Given the description of an element on the screen output the (x, y) to click on. 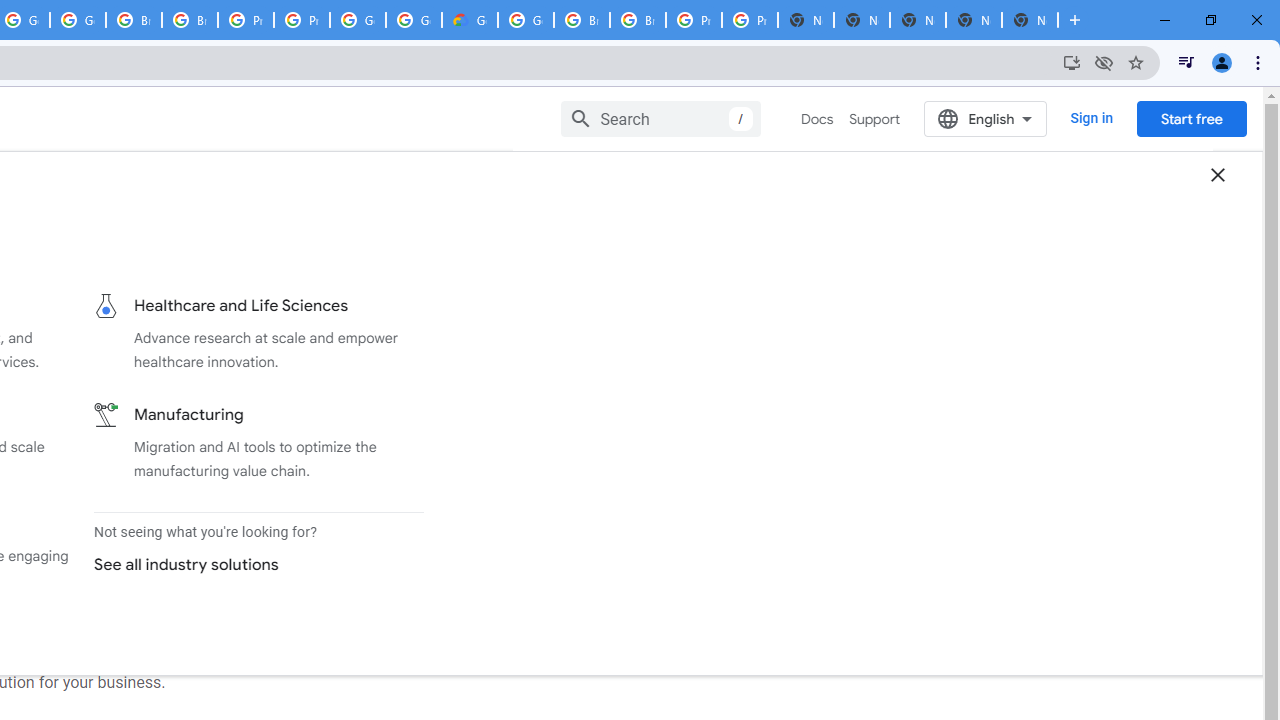
Docs (817, 119)
Close dropdown menu (1217, 174)
